Given the description of an element on the screen output the (x, y) to click on. 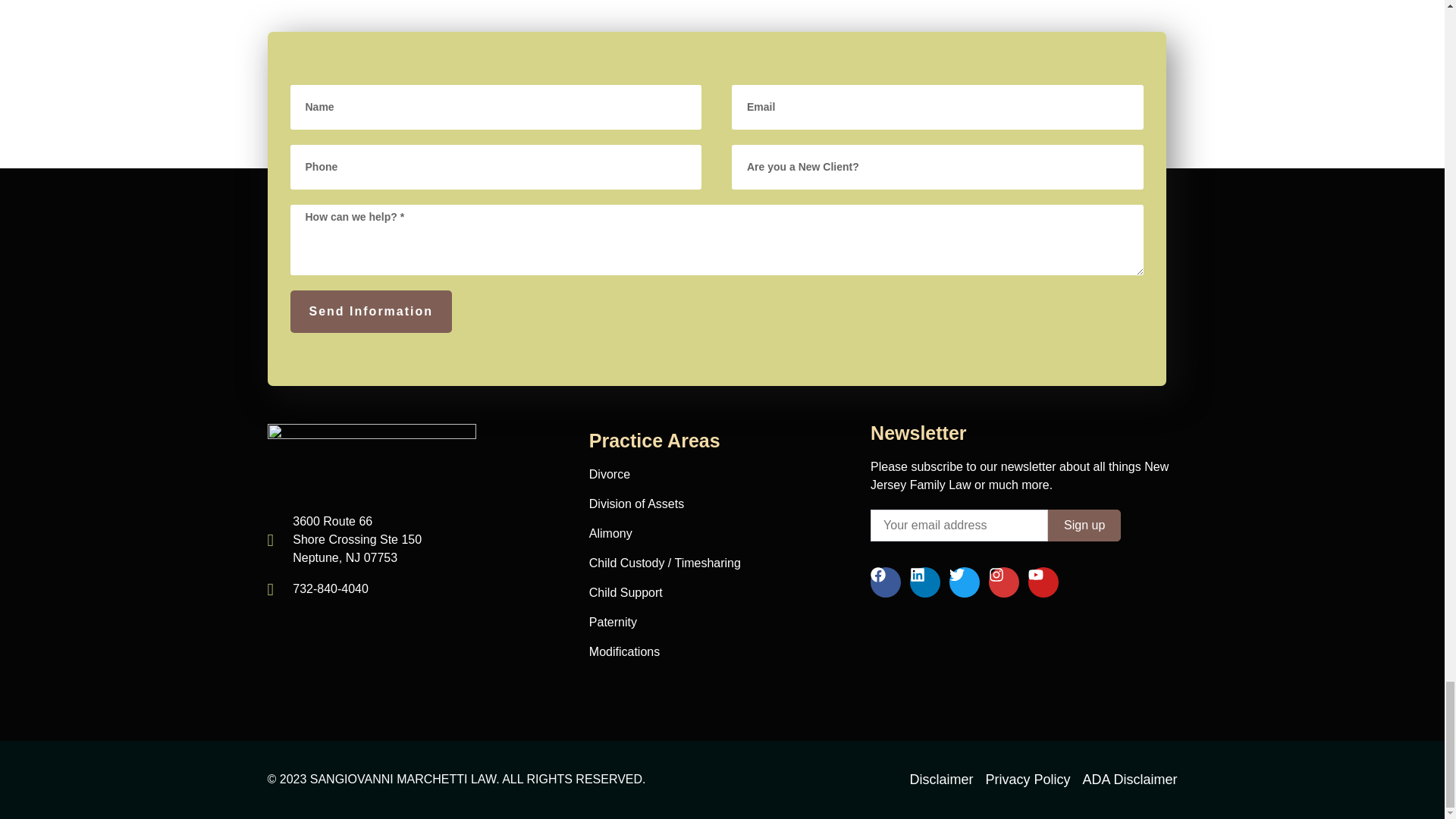
Sign up (1084, 525)
